Given the description of an element on the screen output the (x, y) to click on. 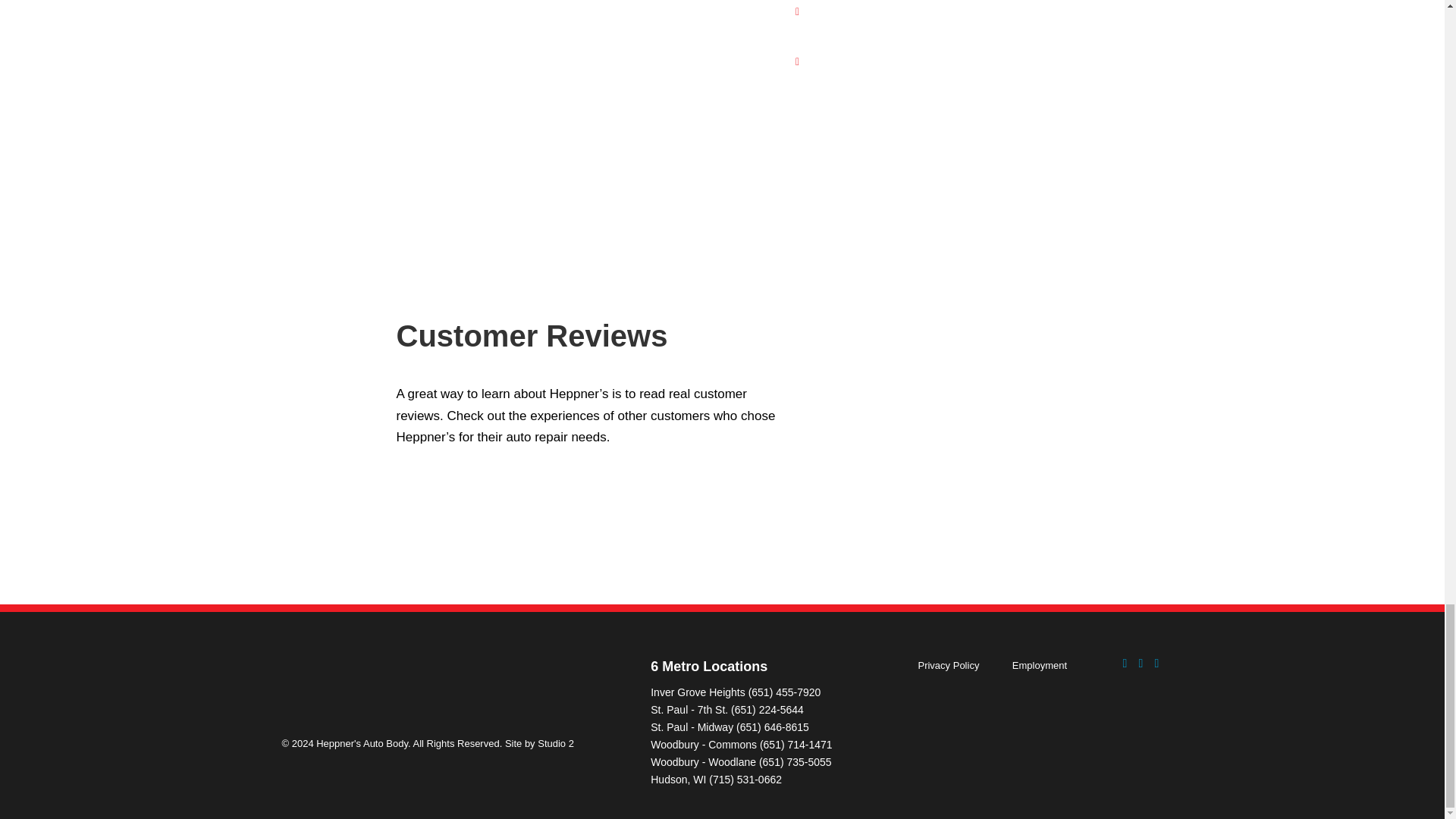
logo (450, 686)
H (1015, 14)
